Given the description of an element on the screen output the (x, y) to click on. 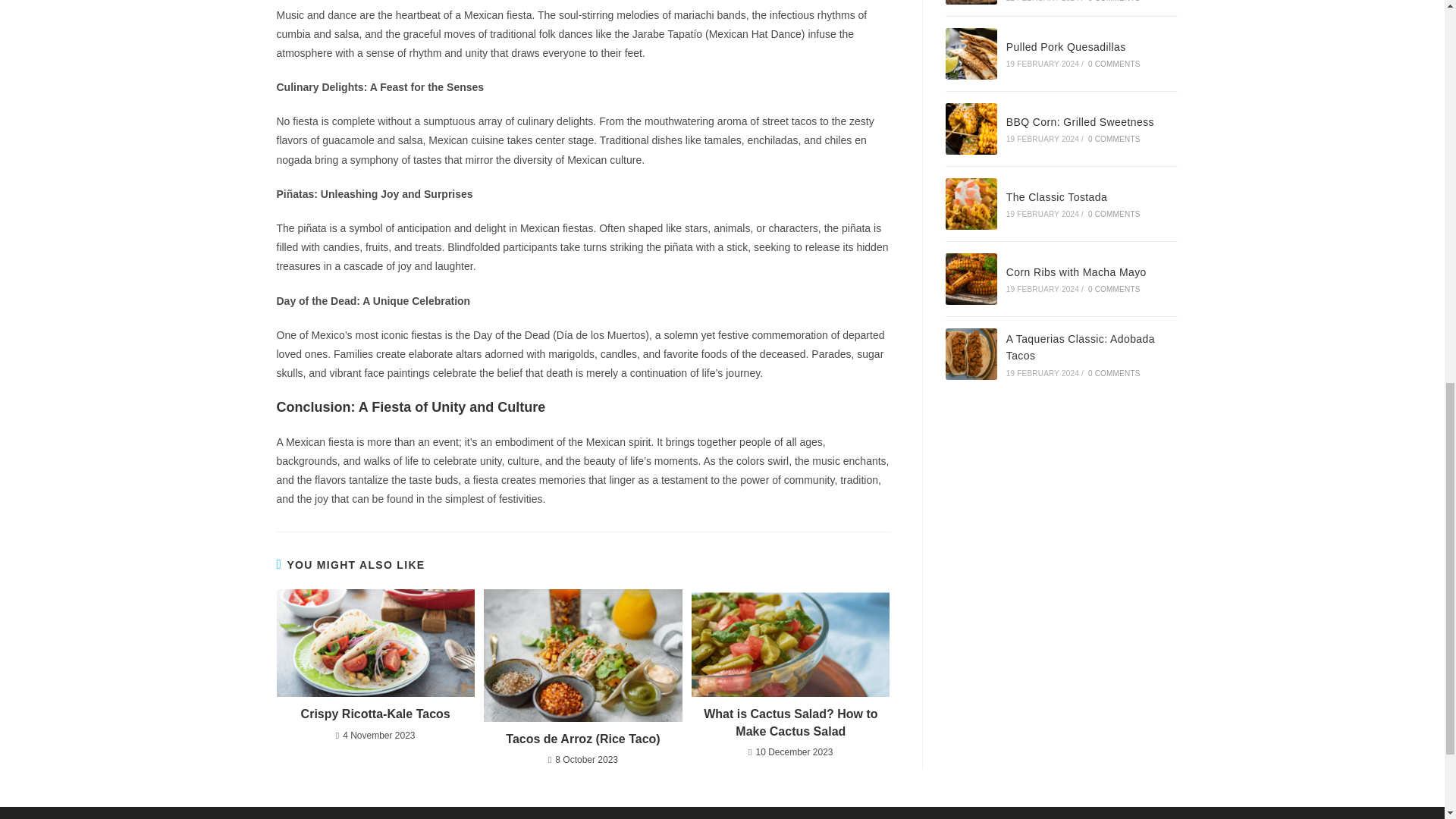
Beef Quesadilla: A Hearty and Cheesy Delight (969, 2)
Corn Ribs with Macha Mayo (1076, 272)
0 COMMENTS (1113, 213)
Pulled Pork Quesadillas (1065, 46)
A Taquerias Classic: Adobada Tacos (969, 354)
BBQ Corn: Grilled Sweetness (969, 128)
0 COMMENTS (1113, 289)
The Classic Tostada (1056, 196)
0 COMMENTS (1113, 1)
0 COMMENTS (1113, 139)
The Classic Tostada (969, 204)
0 COMMENTS (1113, 373)
What is Cactus Salad? How to Make Cactus Salad (790, 722)
A Taquerias Classic: Adobada Tacos (1080, 346)
Pulled Pork Quesadillas (969, 53)
